Given the description of an element on the screen output the (x, y) to click on. 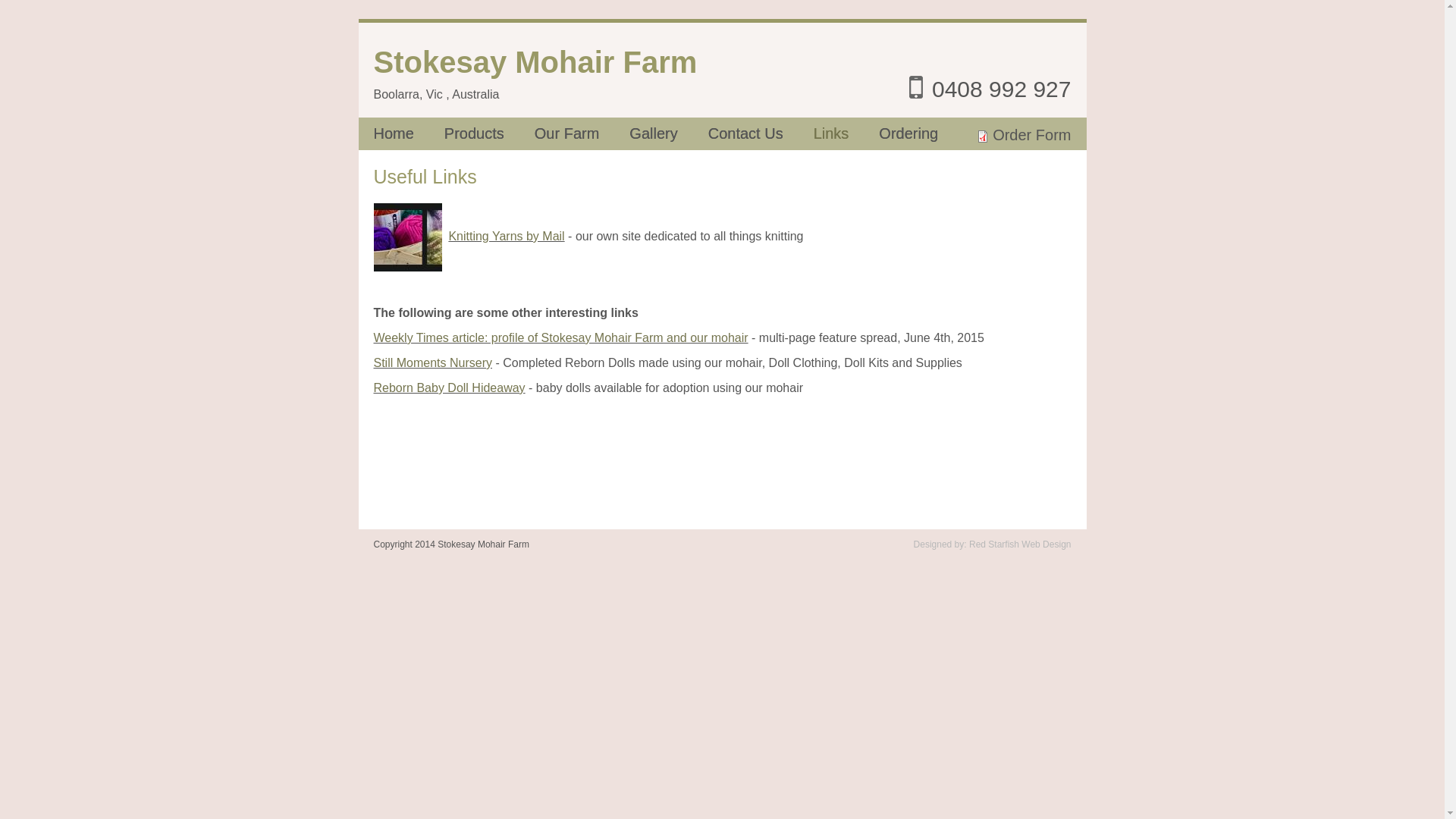
Still Moments Nursery Element type: text (432, 362)
Stokesay Mohair Farm Element type: text (534, 61)
Ordering Element type: text (923, 133)
Order Form Element type: text (1031, 134)
Knitting Yarns by Mail Element type: text (506, 235)
Red Starfish Web Design Element type: text (1020, 544)
application/pdf Element type: hover (982, 136)
Contact Us Element type: text (760, 133)
Home Element type: text (408, 133)
Reborn Baby Doll Hideaway Element type: text (448, 387)
Links Element type: text (846, 133)
Products Element type: text (489, 133)
Our Farm Element type: text (582, 133)
Gallery Element type: text (668, 133)
